Given the description of an element on the screen output the (x, y) to click on. 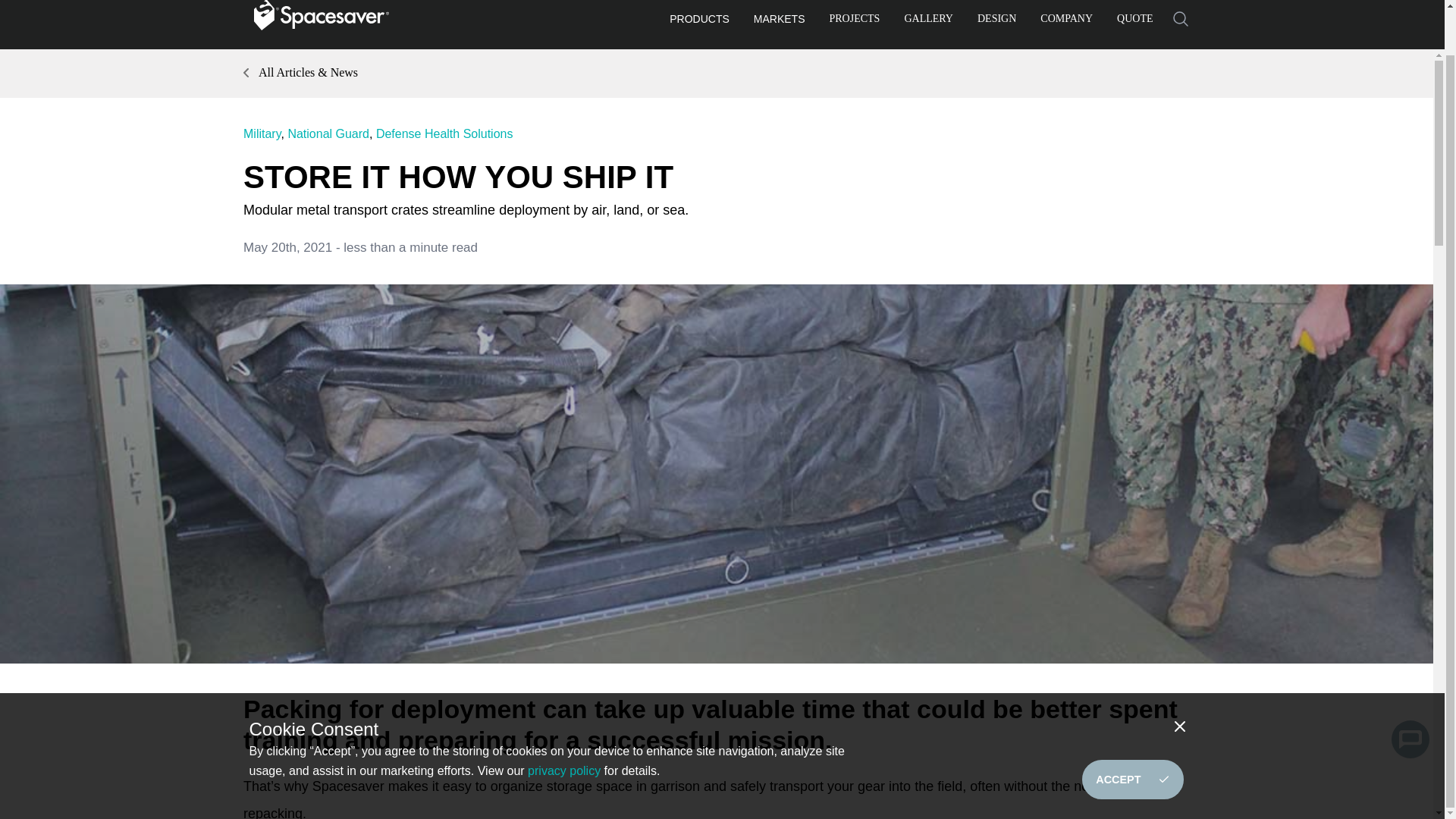
MARKETS (779, 22)
Defense Health Solutions (444, 133)
Search (1179, 19)
PRODUCTS (699, 22)
Military (262, 133)
National Guard (327, 133)
GALLERY (928, 21)
PROJECTS (854, 21)
